Given the description of an element on the screen output the (x, y) to click on. 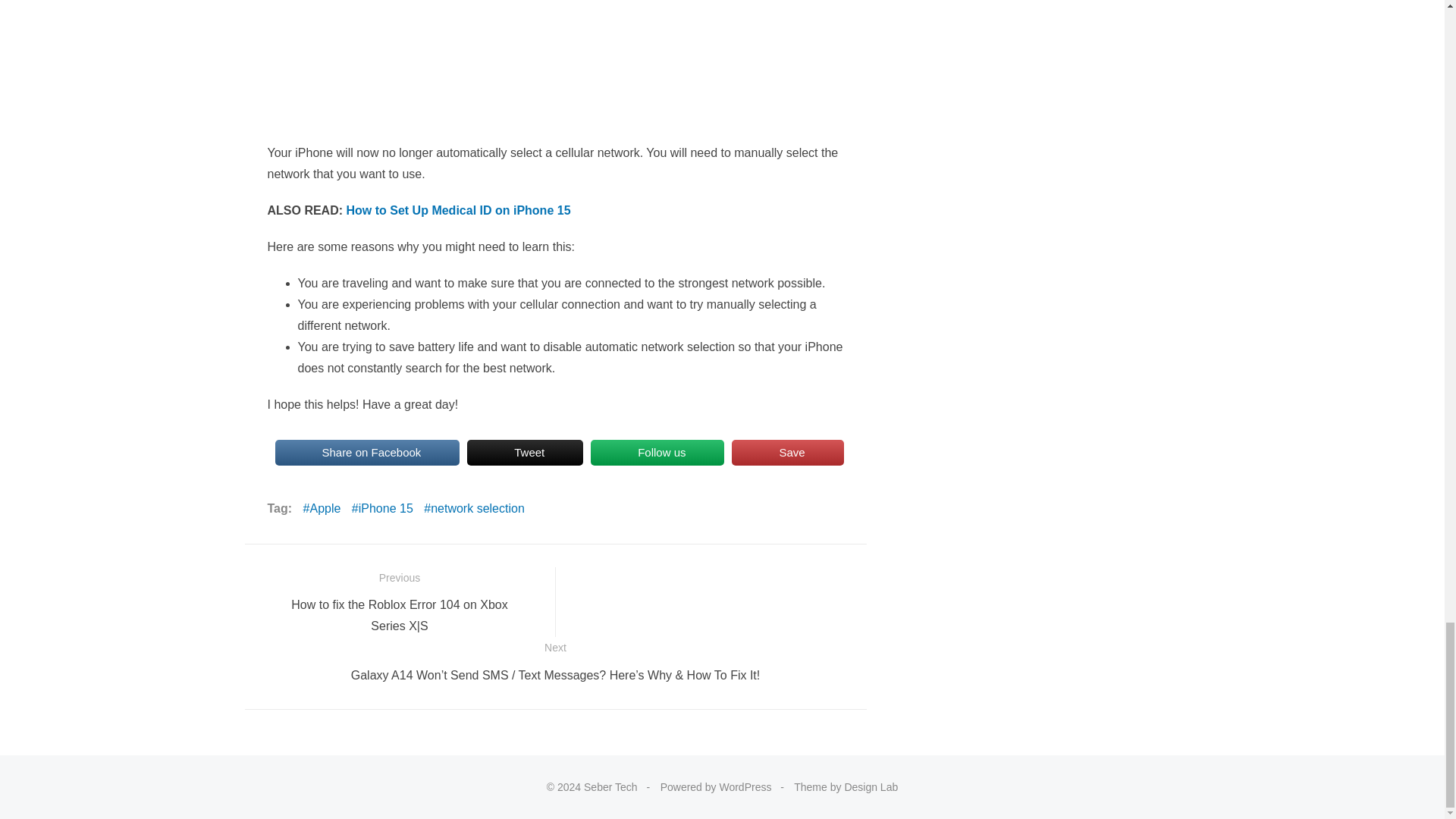
Follow us (657, 452)
Share on Facebook (367, 452)
Tweet (525, 452)
How to Set Up Medical ID on iPhone 15 (458, 210)
